Given the description of an element on the screen output the (x, y) to click on. 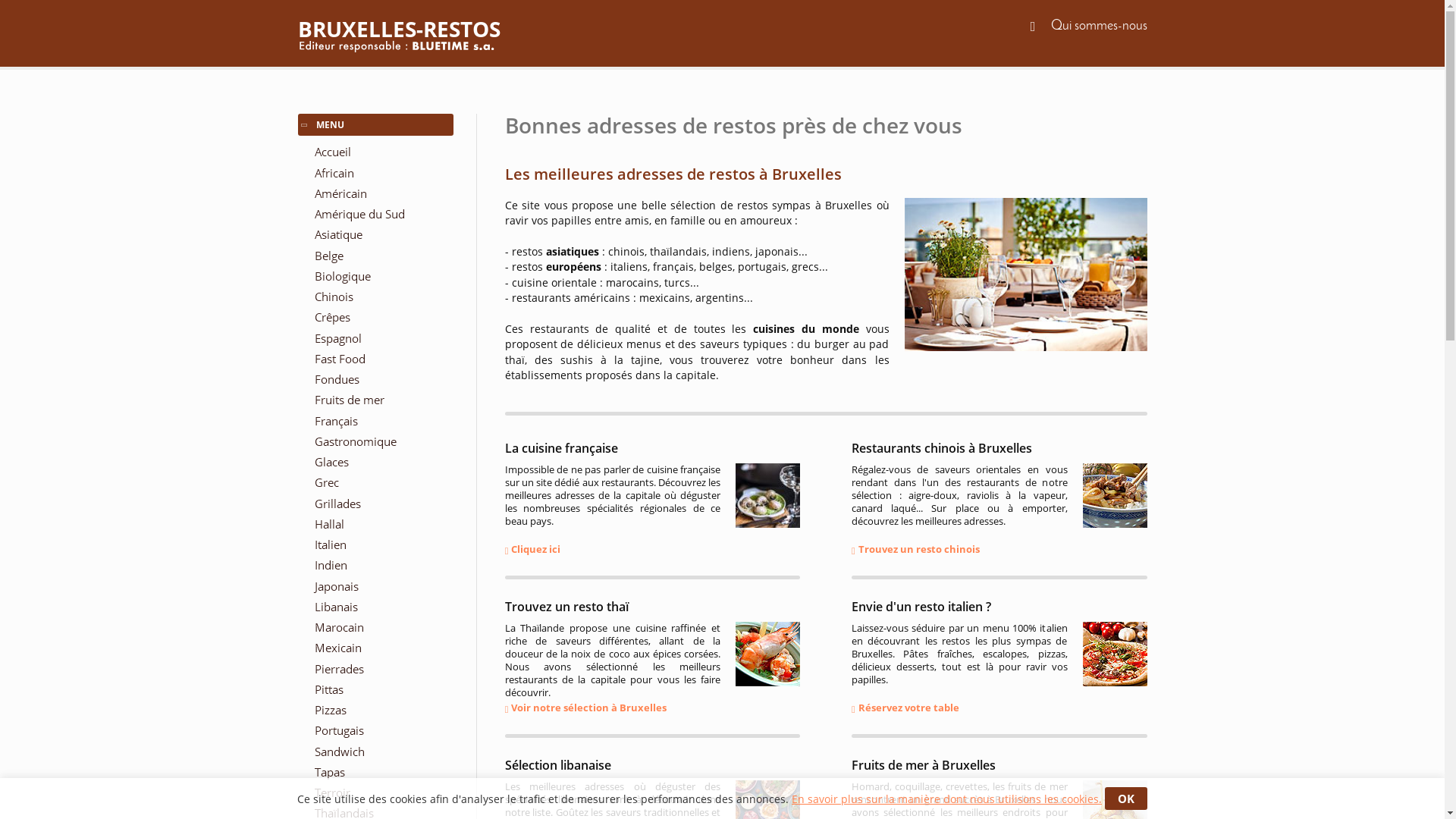
Qui sommes-nous Element type: text (1099, 25)
Cliquez ici Element type: text (533, 548)
Trouvez un resto chinois Element type: text (915, 548)
BRUXELLES-RESTOS Element type: text (721, 28)
